Given the description of an element on the screen output the (x, y) to click on. 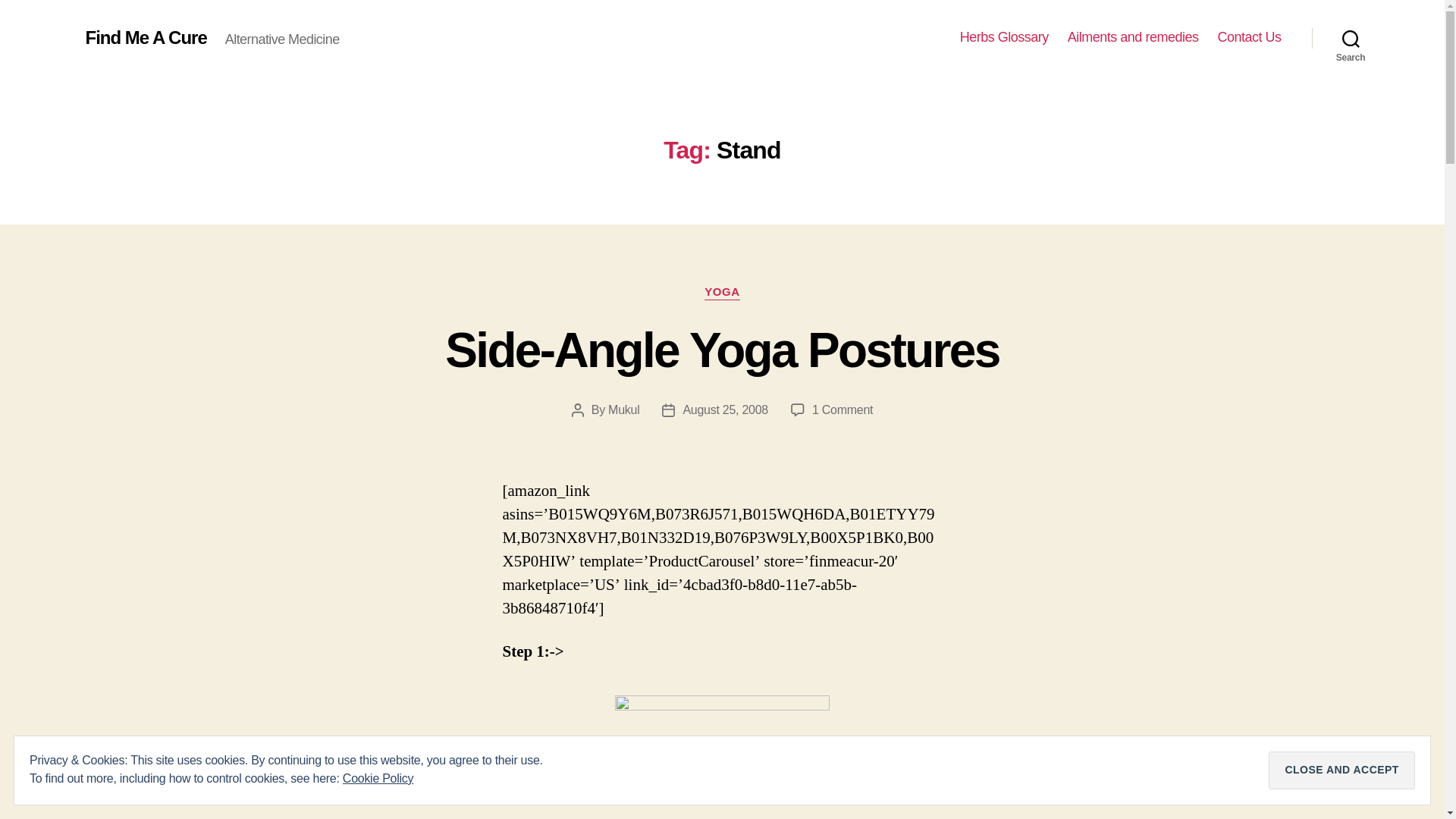
step-13 (721, 756)
Contact Us (1249, 37)
YOGA (721, 292)
Find Me A Cure (145, 37)
Herbs Glossary (1003, 37)
Mukul (623, 409)
August 25, 2008 (725, 409)
Ailments and remedies (1132, 37)
Close and accept (1341, 770)
Search (1350, 37)
